Given the description of an element on the screen output the (x, y) to click on. 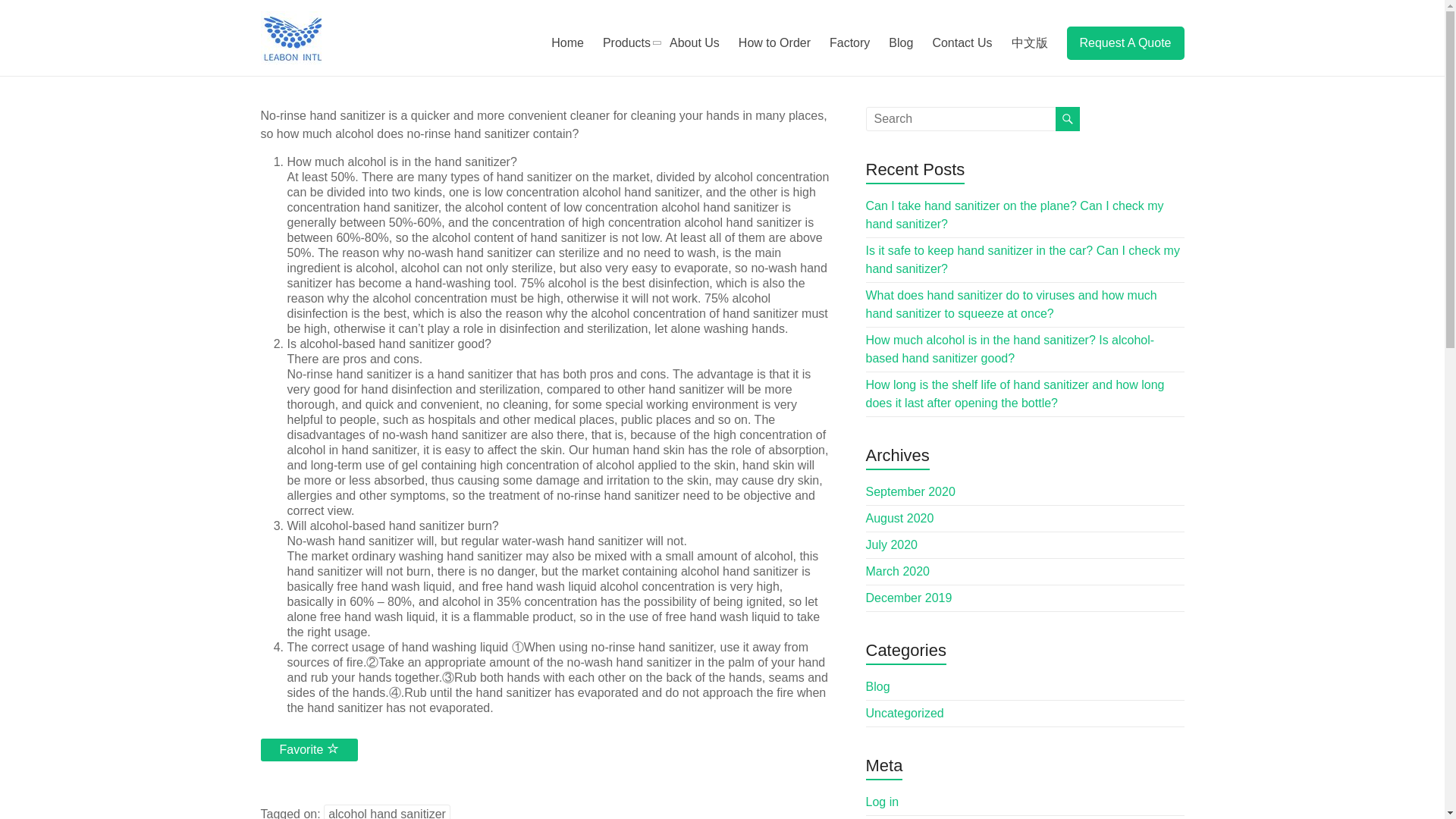
Uncategorized (904, 712)
Personal Protection Product Manufacturer (339, 74)
September 2020 (910, 491)
March 2020 (898, 571)
Favorite (309, 749)
Contact Us (961, 42)
Blog (900, 42)
August 2020 (900, 517)
